Given the description of an element on the screen output the (x, y) to click on. 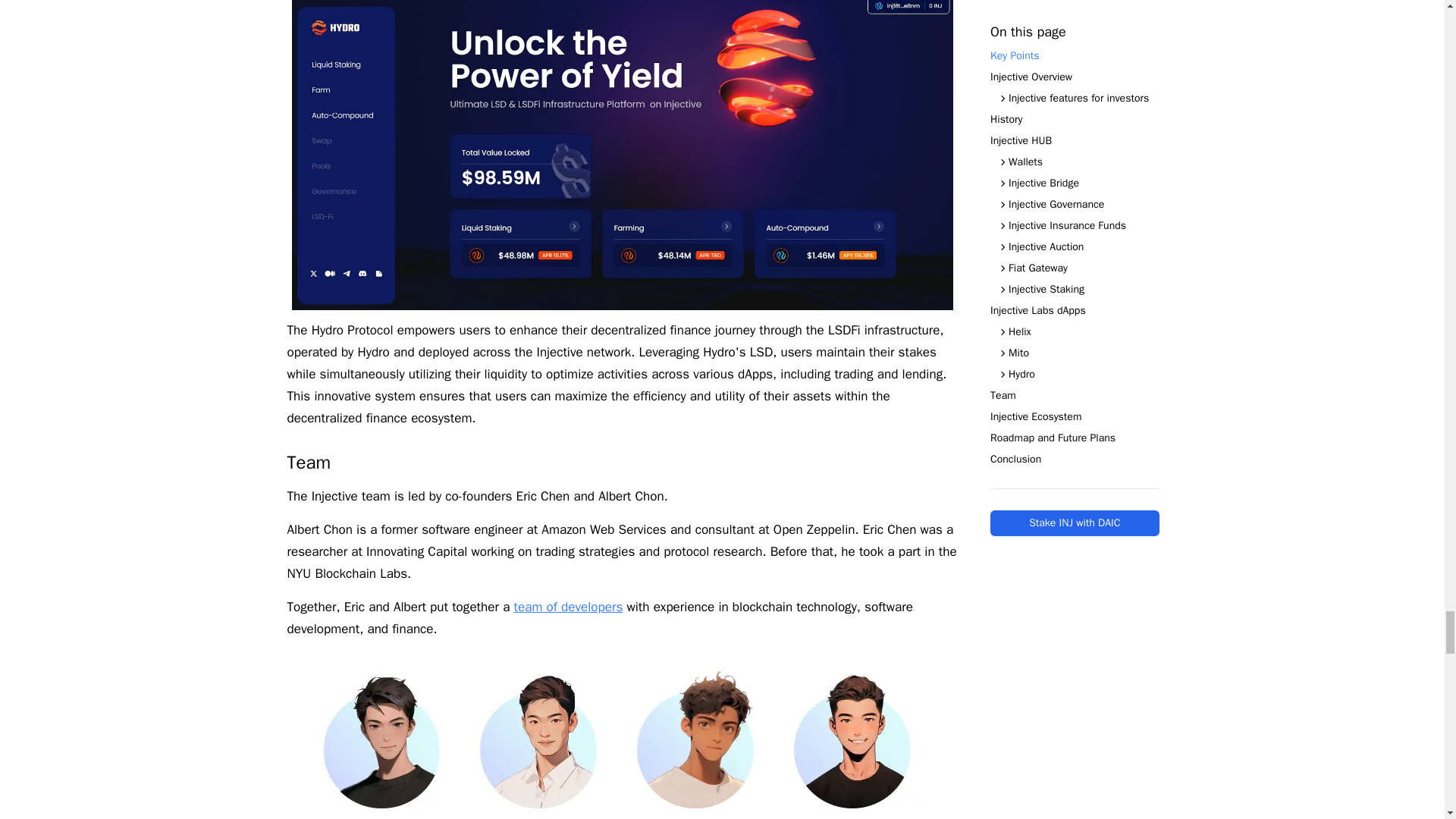
team of developers (568, 606)
